Given the description of an element on the screen output the (x, y) to click on. 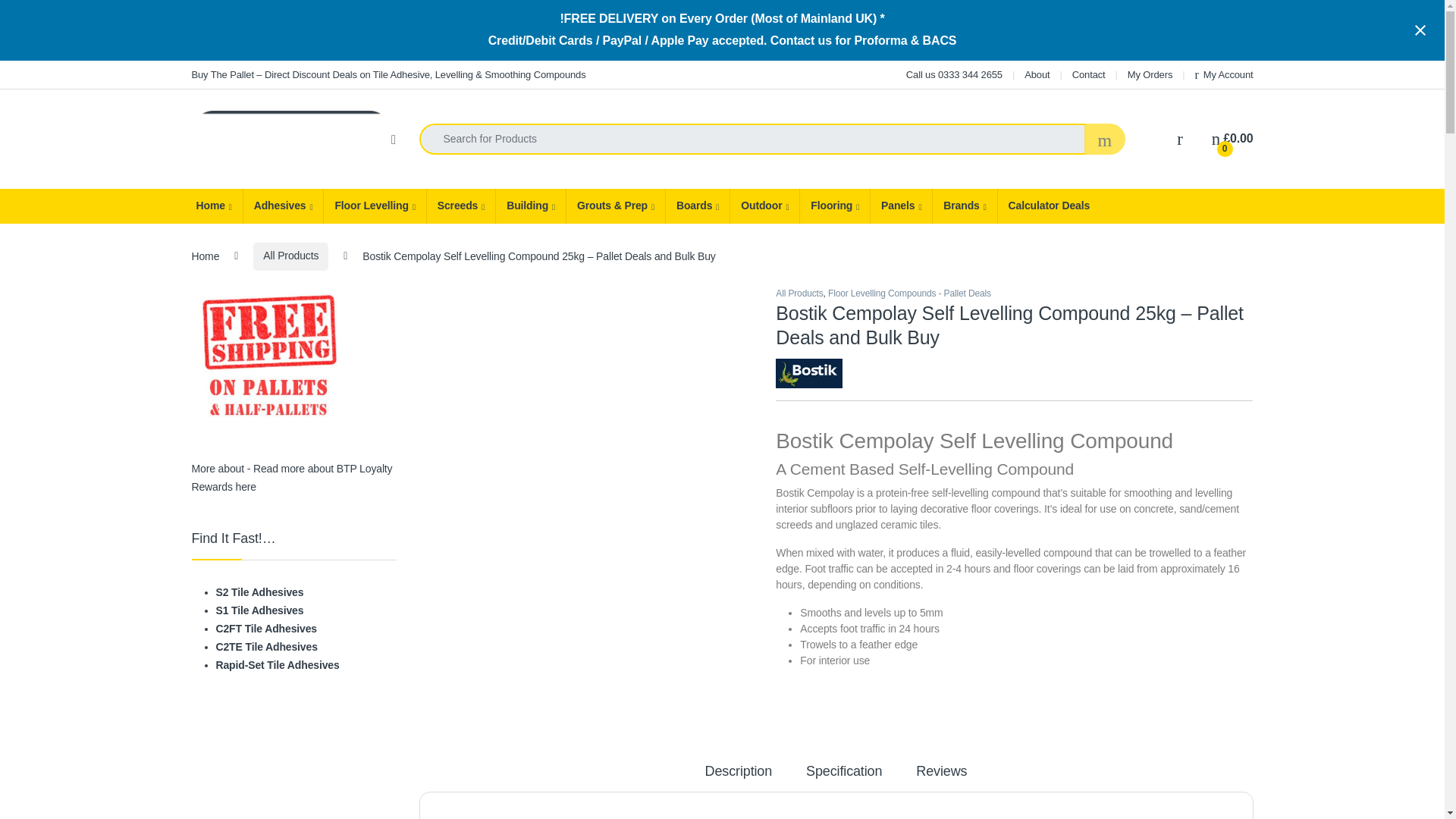
My Orders (1149, 74)
About (1037, 74)
Contact (1088, 74)
My Orders (1149, 74)
Contact (1088, 74)
My Account (1224, 74)
About (1037, 74)
Call us 0333 344 2655 (954, 74)
My Account (1224, 74)
Call us 0333 344 2655 (954, 74)
